Given the description of an element on the screen output the (x, y) to click on. 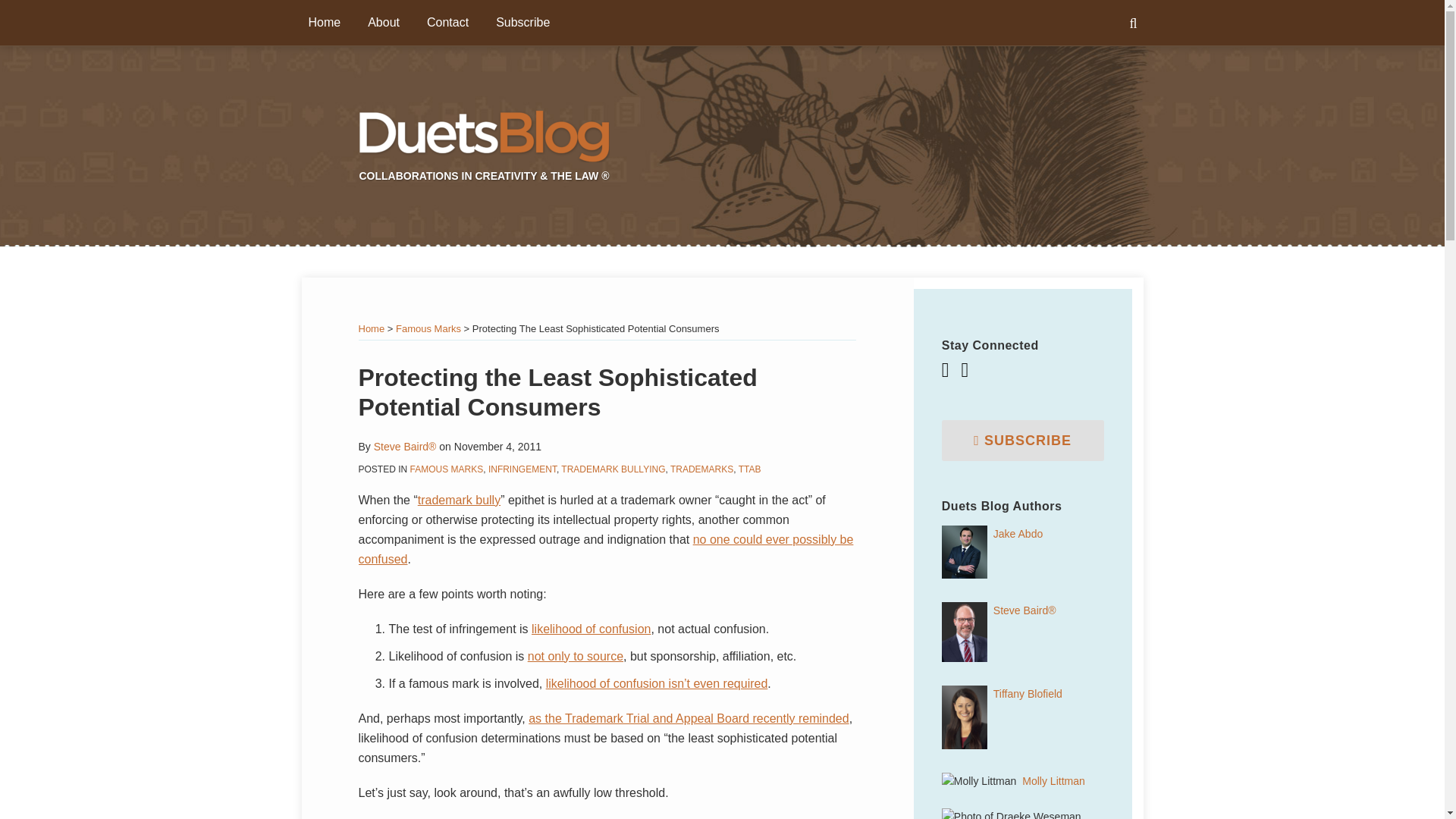
as the Trademark Trial and Appeal Board recently reminded (688, 717)
TTAB (749, 469)
INFRINGEMENT (521, 469)
Subscribe (523, 22)
no one could ever possibly be confused (605, 549)
Famous Marks (428, 328)
TRADEMARKS (701, 469)
not only to source (575, 656)
likelihood of confusion (590, 628)
Home (323, 22)
